Given the description of an element on the screen output the (x, y) to click on. 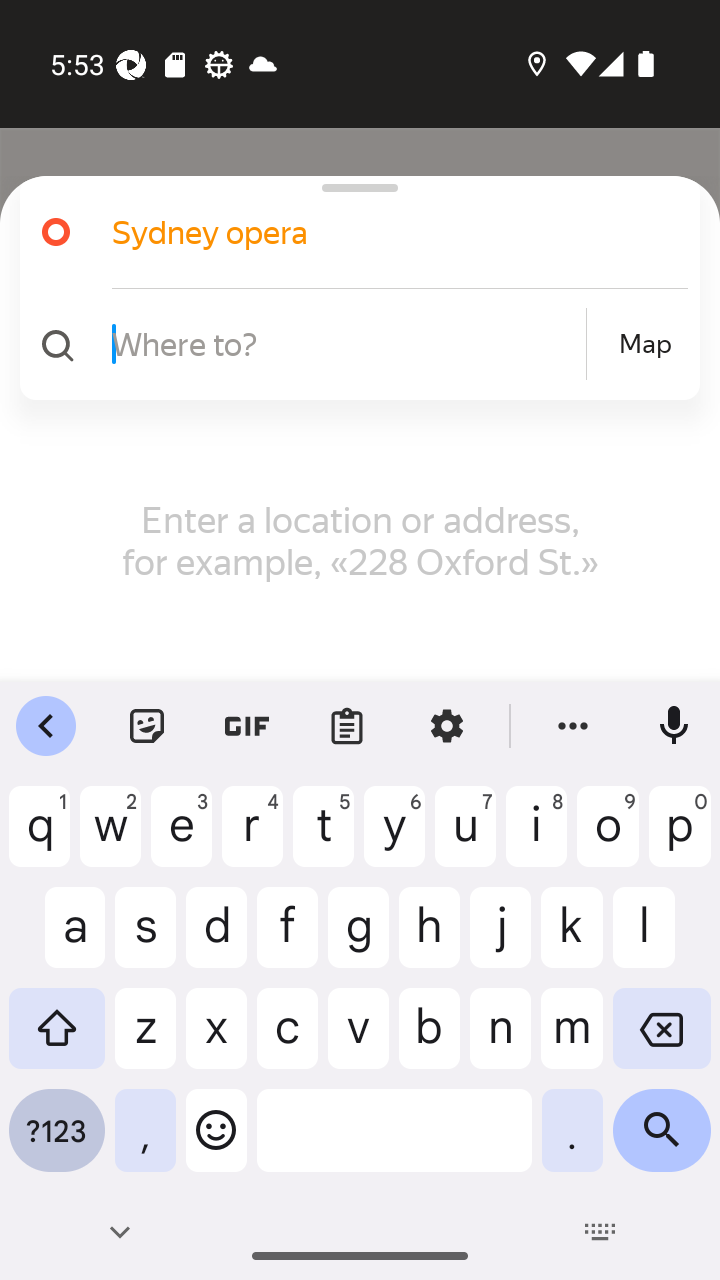
Sydney opera (352, 232)
Sydney opera (373, 232)
Where to? Map Map (352, 343)
Map (645, 343)
Where to? (346, 343)
